Given the description of an element on the screen output the (x, y) to click on. 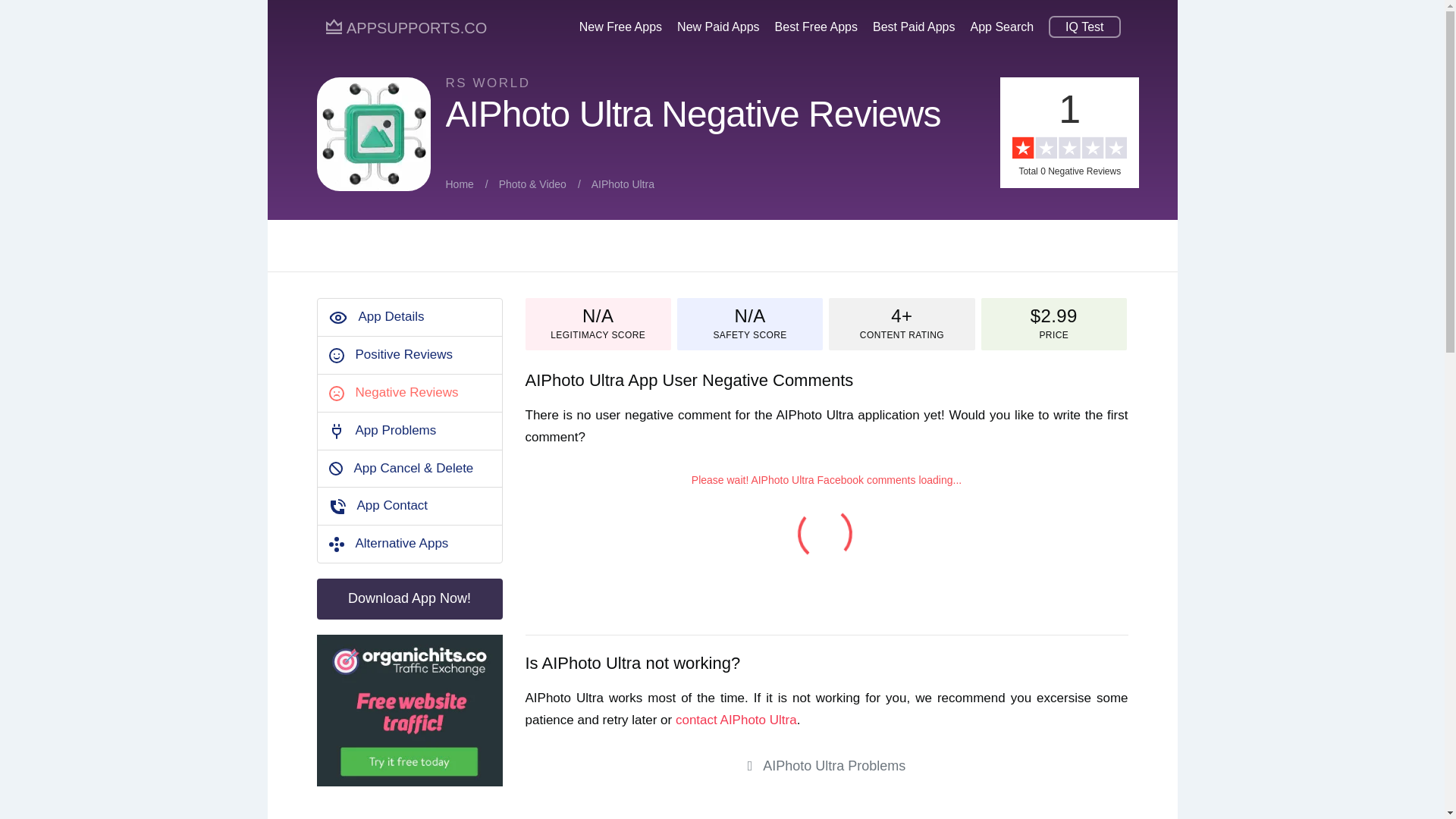
AIPhoto Ultra App Contact Informations (735, 719)
App Support Platform (406, 27)
New Free Apps (620, 28)
How to cancel AIPhoto Ultra? (413, 468)
Home (459, 184)
AIPhoto Ultra Support (390, 316)
App Problems (395, 430)
Best Paid Apps (913, 28)
RS WORLD Apps Reviews (488, 83)
IQ Test (1083, 28)
LEGITIMACY SCORE (597, 335)
Alternative Apps (401, 543)
Download App Now! (409, 598)
App Search (1002, 28)
Is AIPhoto Ultra legit? (597, 335)
